Given the description of an element on the screen output the (x, y) to click on. 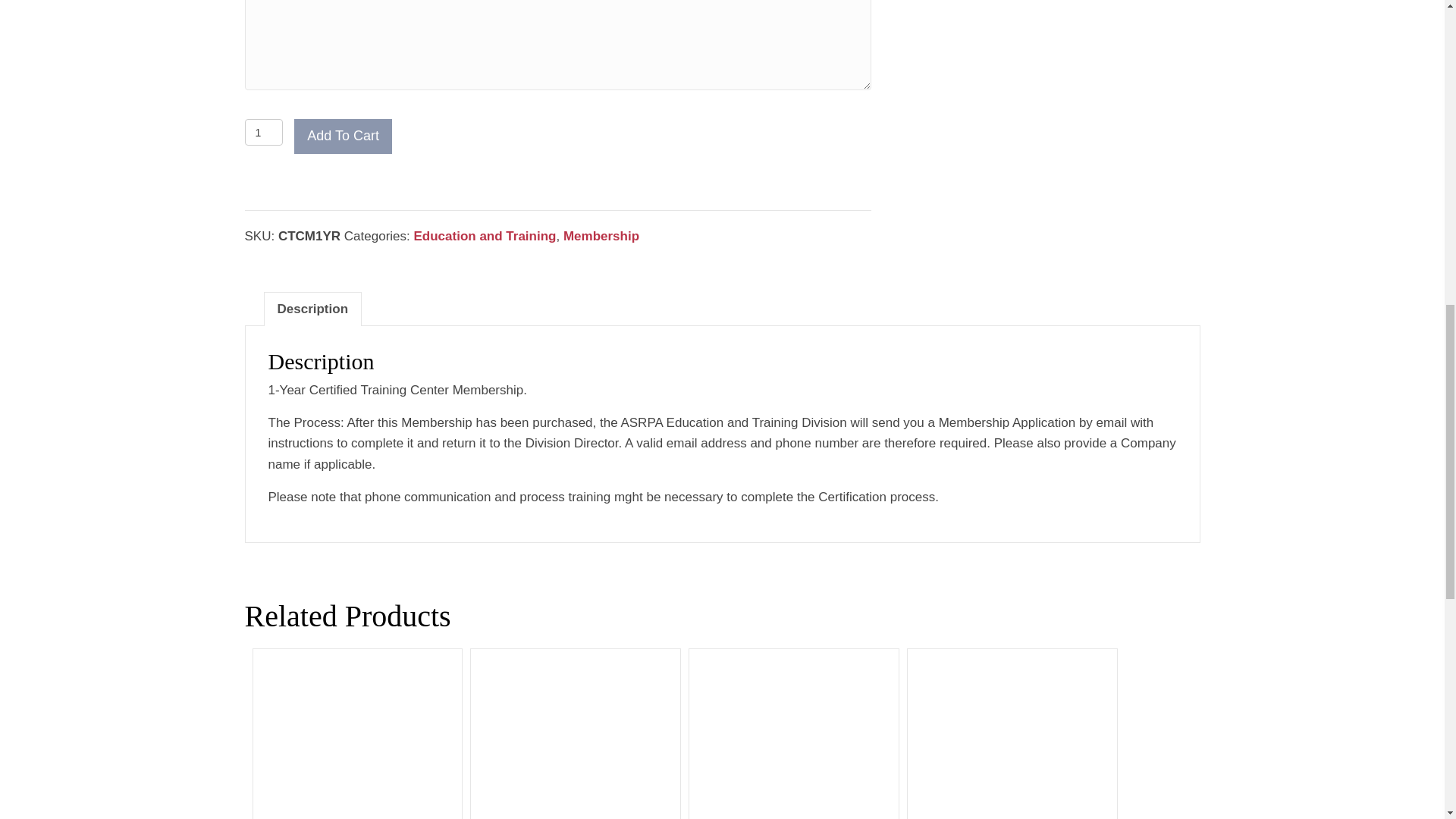
1 (263, 131)
